Given the description of an element on the screen output the (x, y) to click on. 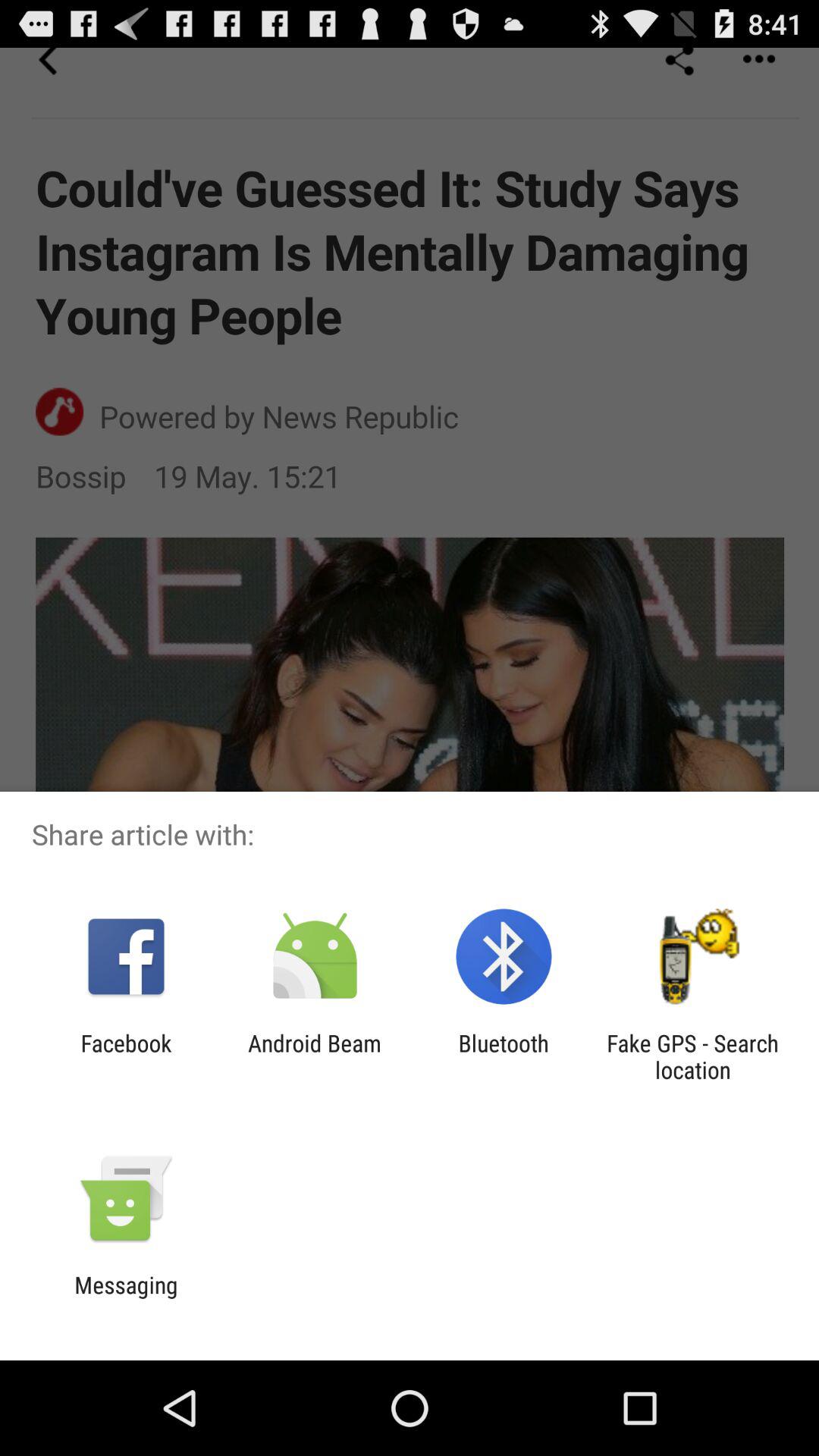
click the fake gps search (692, 1056)
